Given the description of an element on the screen output the (x, y) to click on. 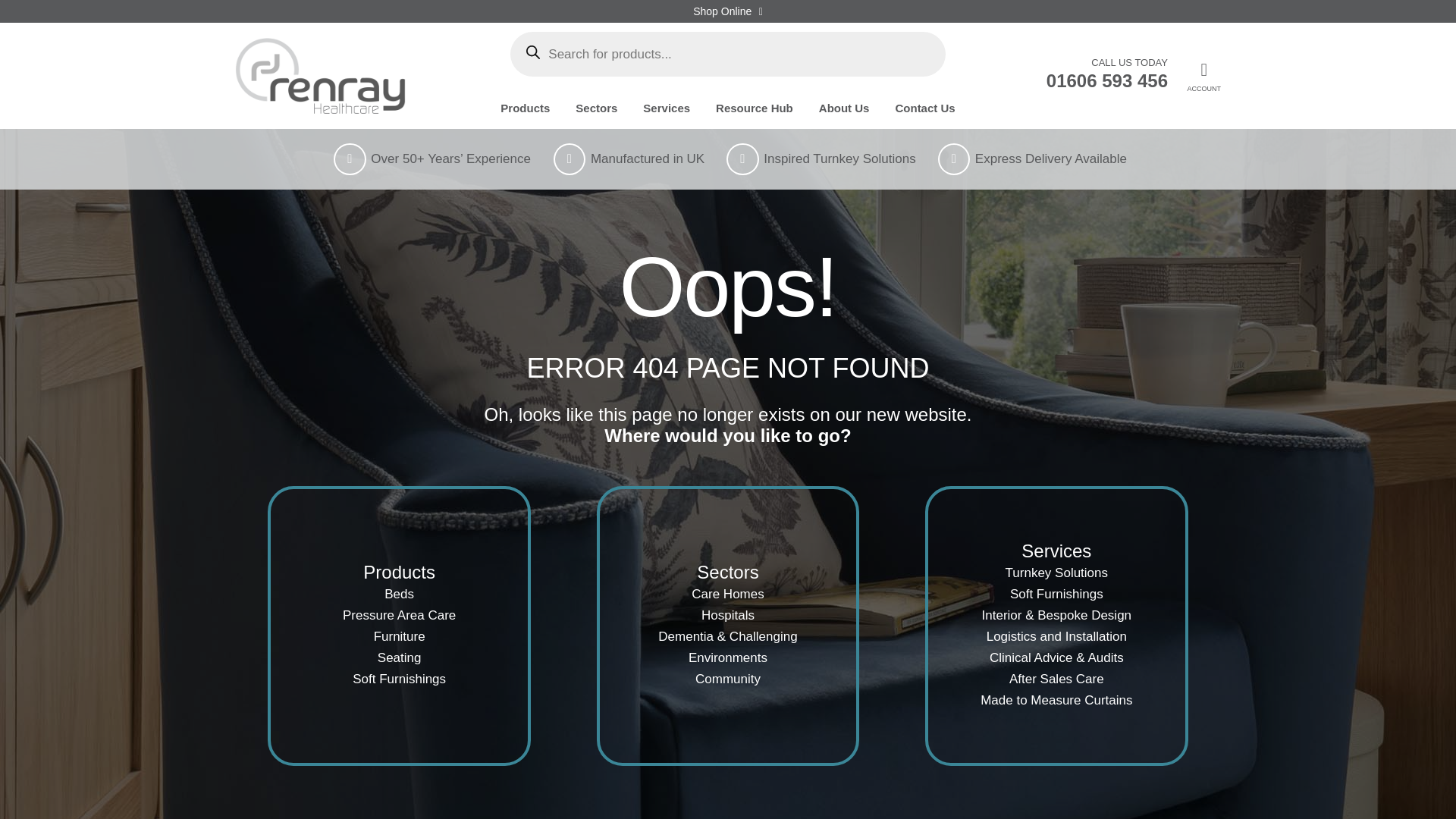
Products (524, 108)
Shop Online (727, 10)
